Given the description of an element on the screen output the (x, y) to click on. 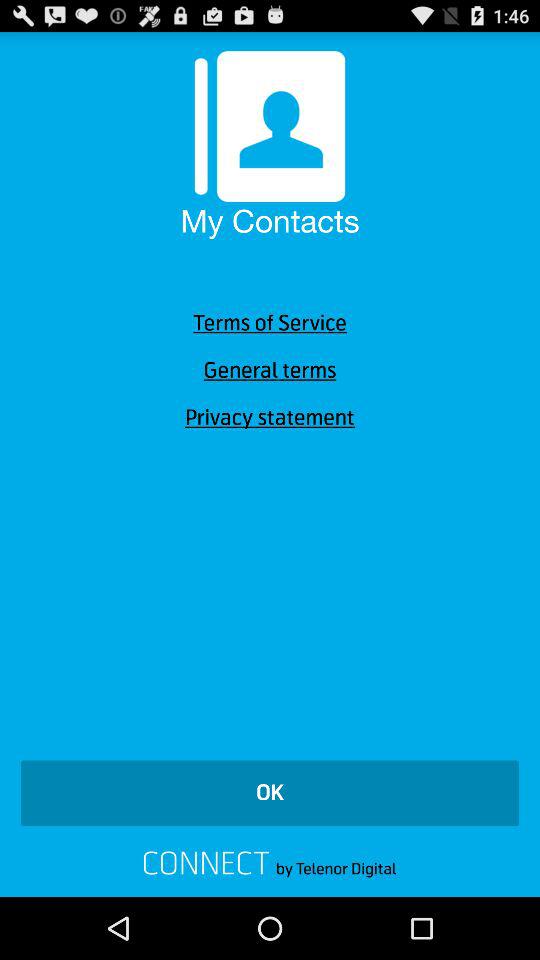
select the icon above general terms (270, 323)
